Given the description of an element on the screen output the (x, y) to click on. 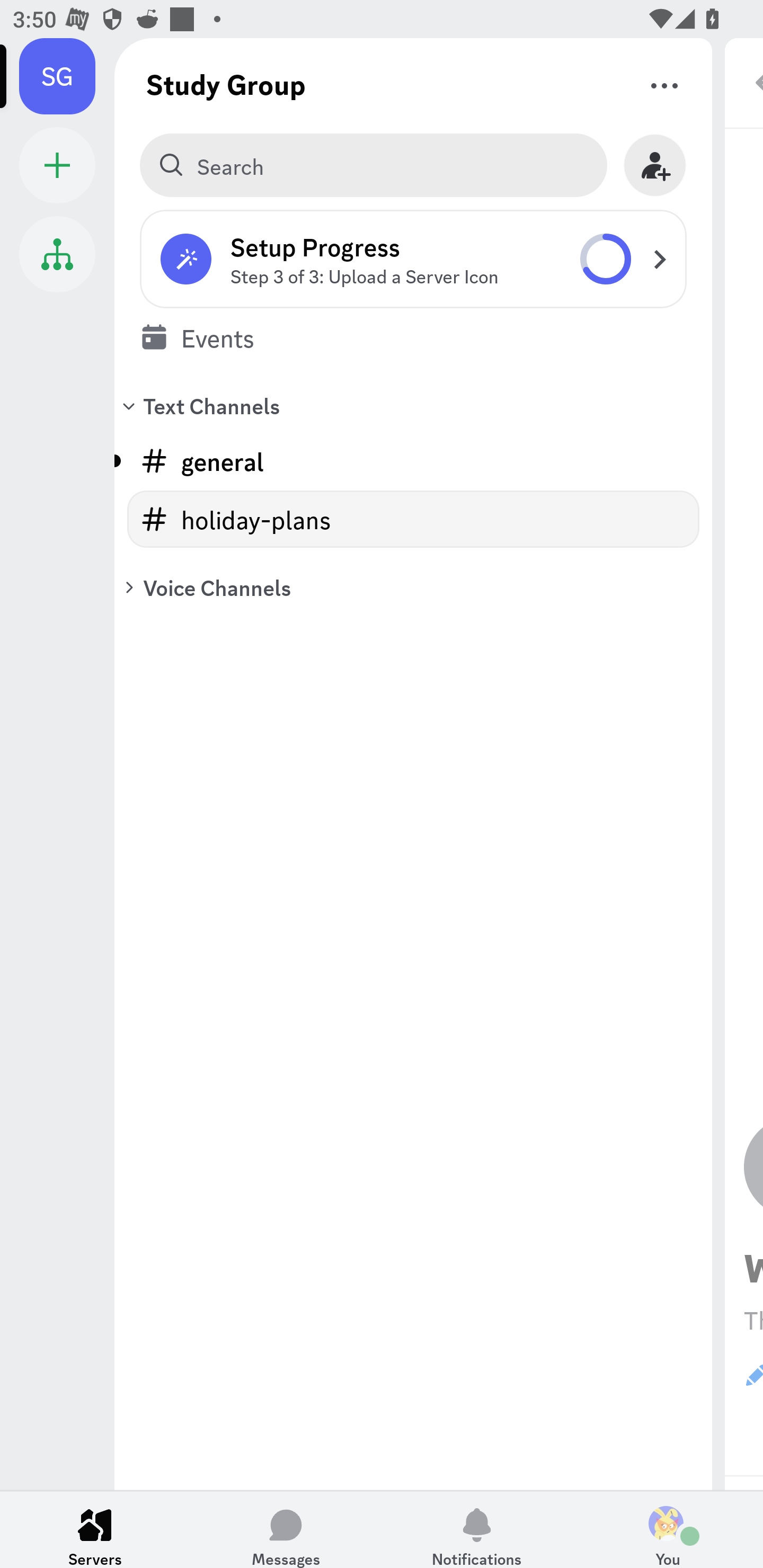
  Study Group SG (66, 75)
Study Group (226, 83)
Add a Server (57, 165)
Search (373, 165)
Invite (654, 165)
Student Hub (57, 253)
Events (413, 336)
Text Channels (412, 404)
unread, general (text channel) general (413, 460)
holiday-plans (text channel) holiday-plans (413, 518)
Voice Channels (412, 586)
Servers (95, 1529)
Messages (285, 1529)
Notifications (476, 1529)
You (667, 1529)
